Given the description of an element on the screen output the (x, y) to click on. 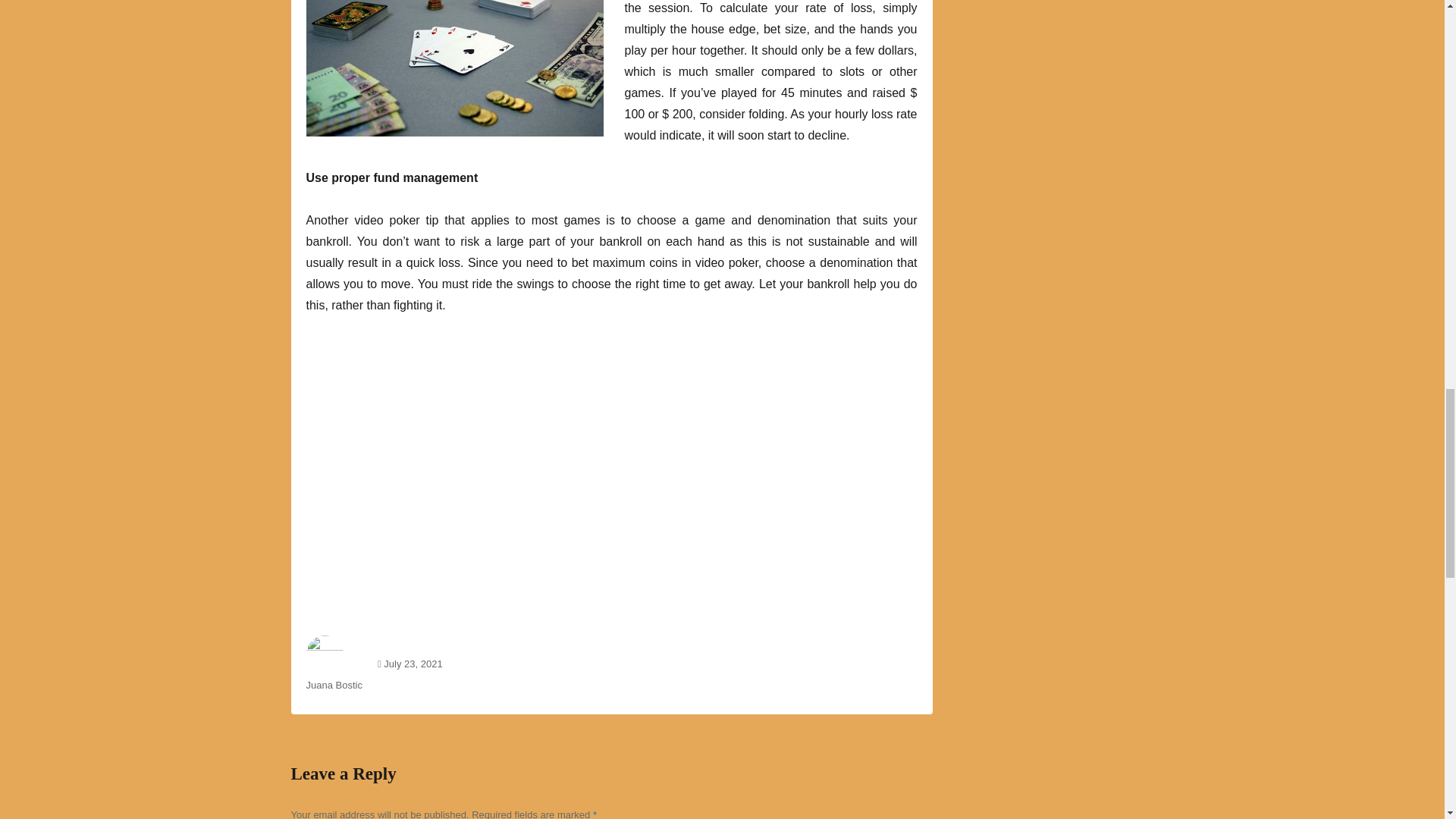
Juana Bostic (333, 685)
July 23, 2021 (413, 663)
